Given the description of an element on the screen output the (x, y) to click on. 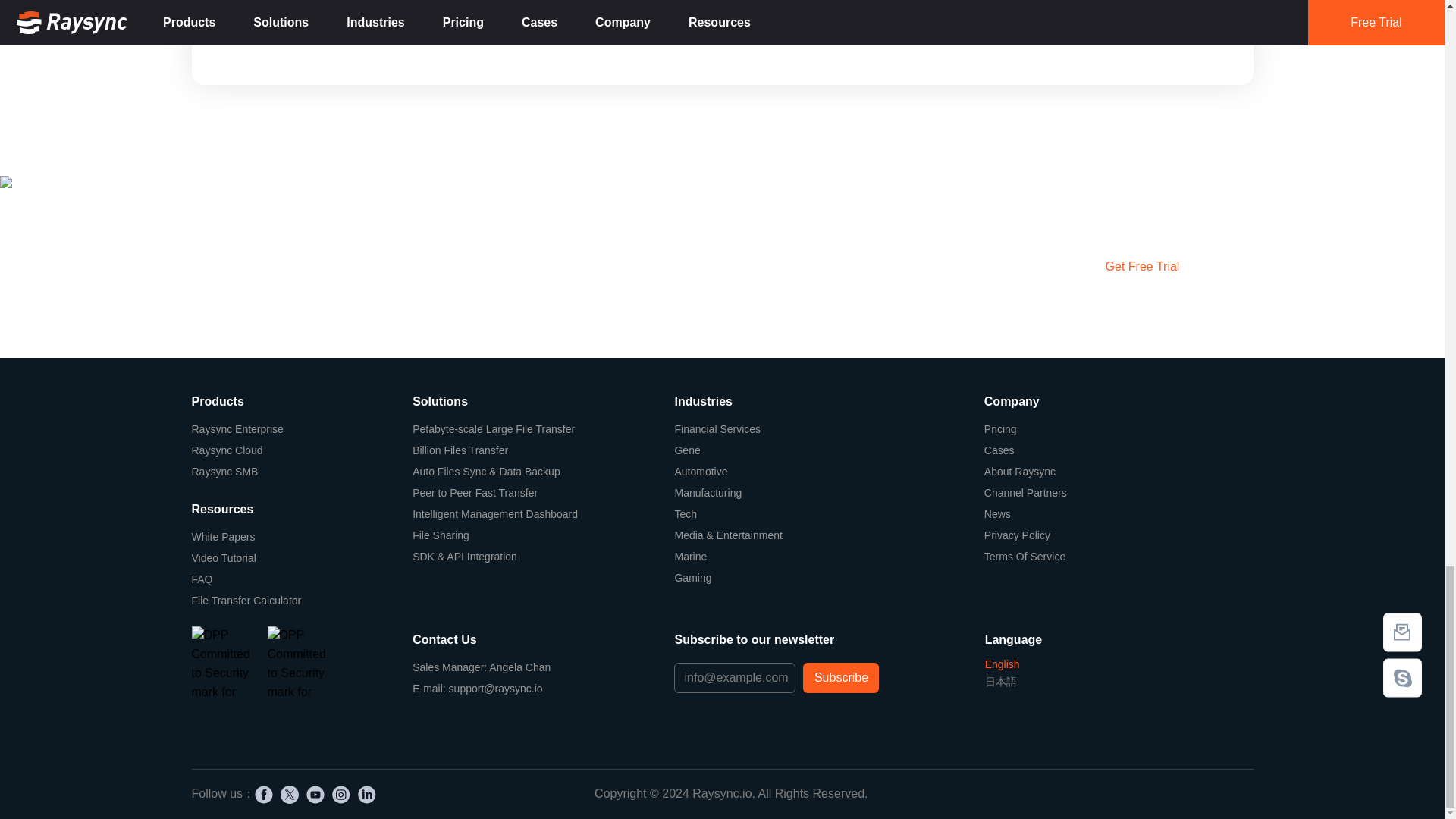
Get Free Trial (1141, 266)
